Given the description of an element on the screen output the (x, y) to click on. 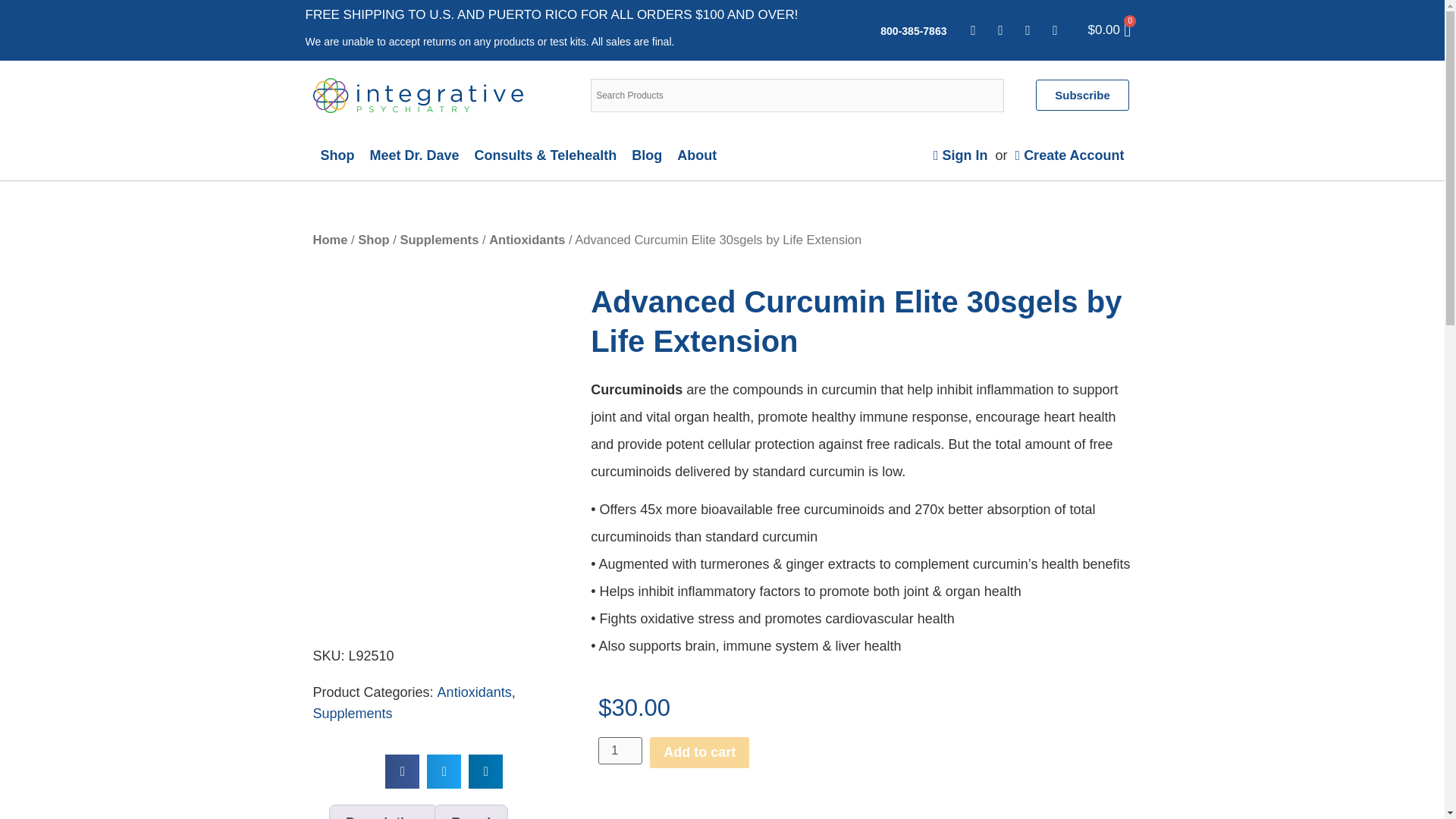
twitter (1000, 30)
instagram (1027, 30)
Subscribe (1082, 94)
youtube (1054, 30)
facebook (973, 30)
800-385-7863 (913, 30)
Blog (646, 155)
Shop (337, 155)
About (696, 155)
cart (1103, 29)
